Given the description of an element on the screen output the (x, y) to click on. 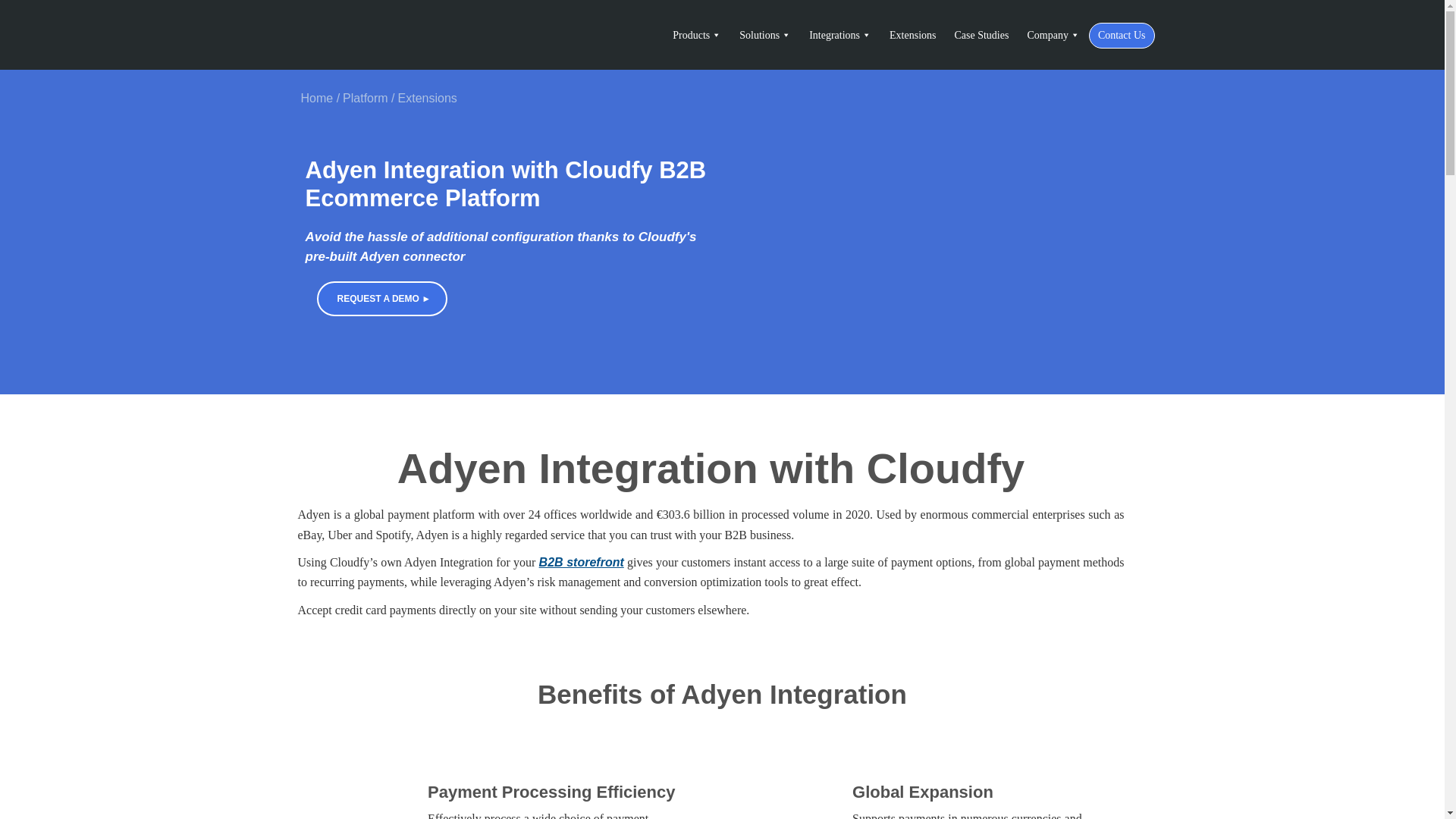
Products (696, 35)
Solutions (764, 35)
